Given the description of an element on the screen output the (x, y) to click on. 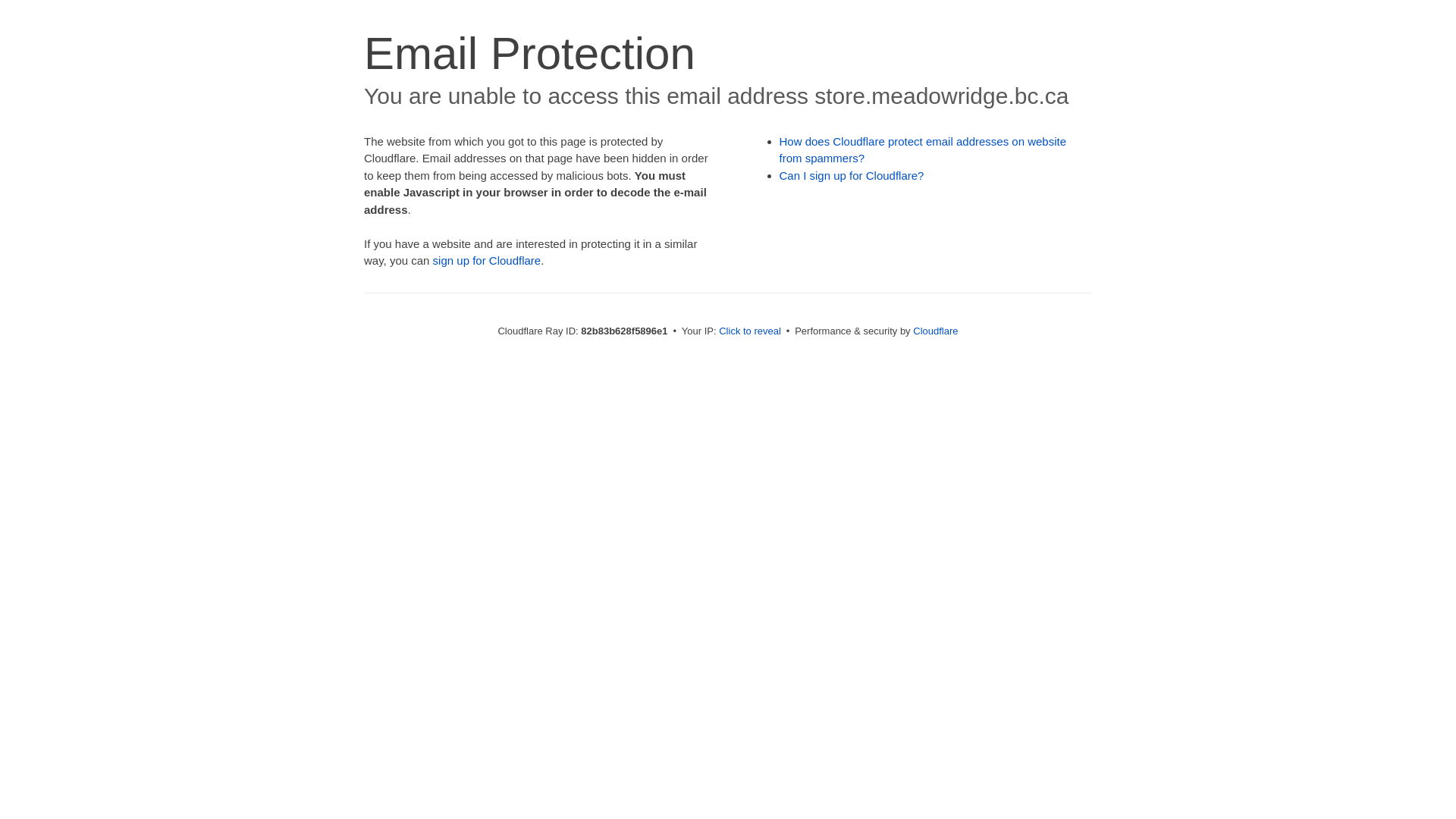
Cloudflare Element type: text (935, 330)
sign up for Cloudflare Element type: text (487, 260)
Can I sign up for Cloudflare? Element type: text (851, 175)
Click to reveal Element type: text (749, 330)
